Given the description of an element on the screen output the (x, y) to click on. 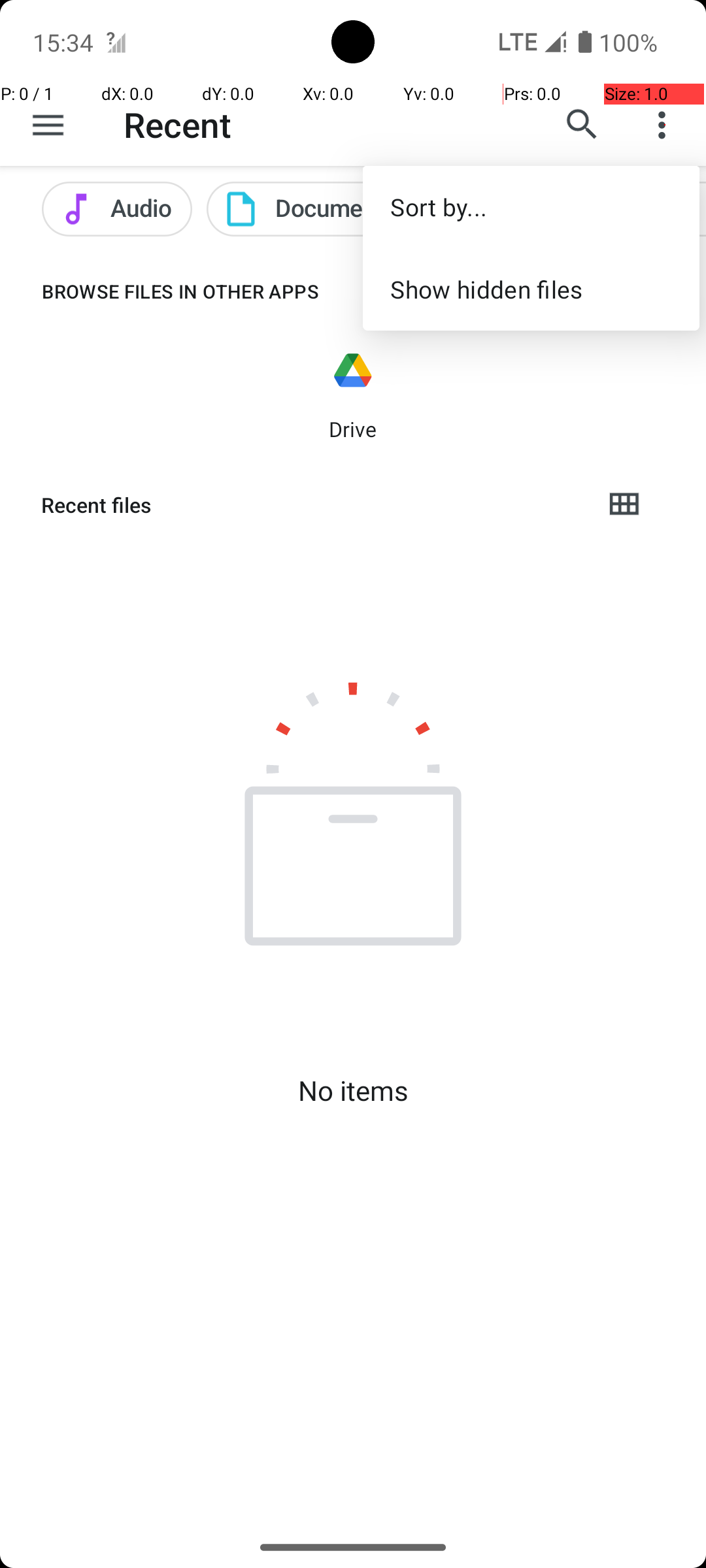
Show hidden files Element type: android.widget.TextView (531, 288)
